Given the description of an element on the screen output the (x, y) to click on. 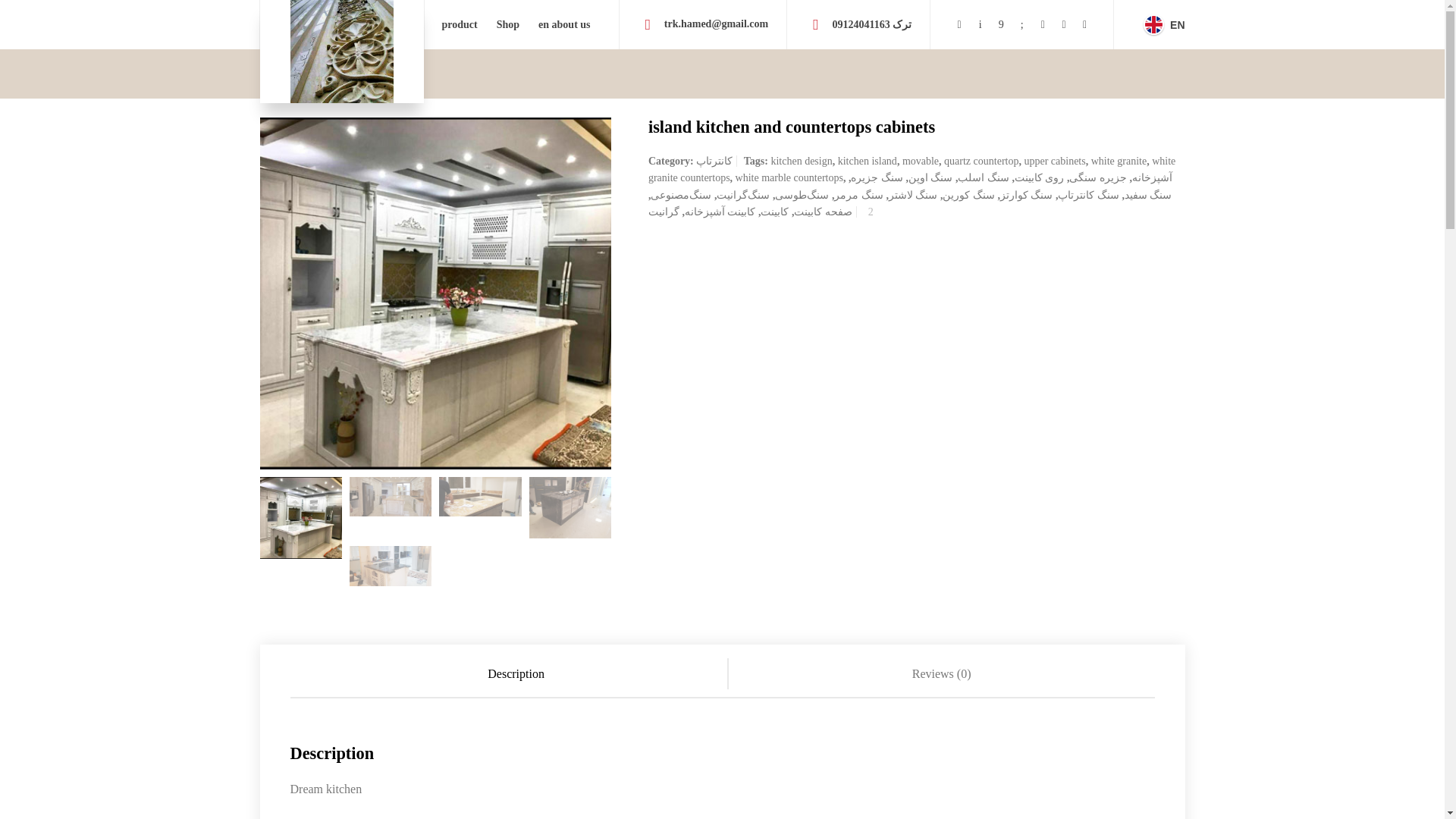
white granite (1118, 161)
Twitter (980, 24)
island kitchen and countertops cabinets (435, 293)
Email (959, 24)
upper cabinets (1053, 161)
en about us (564, 24)
product (459, 24)
Facebook (1000, 24)
kitchen island (867, 161)
white granite countertops (910, 169)
